Given the description of an element on the screen output the (x, y) to click on. 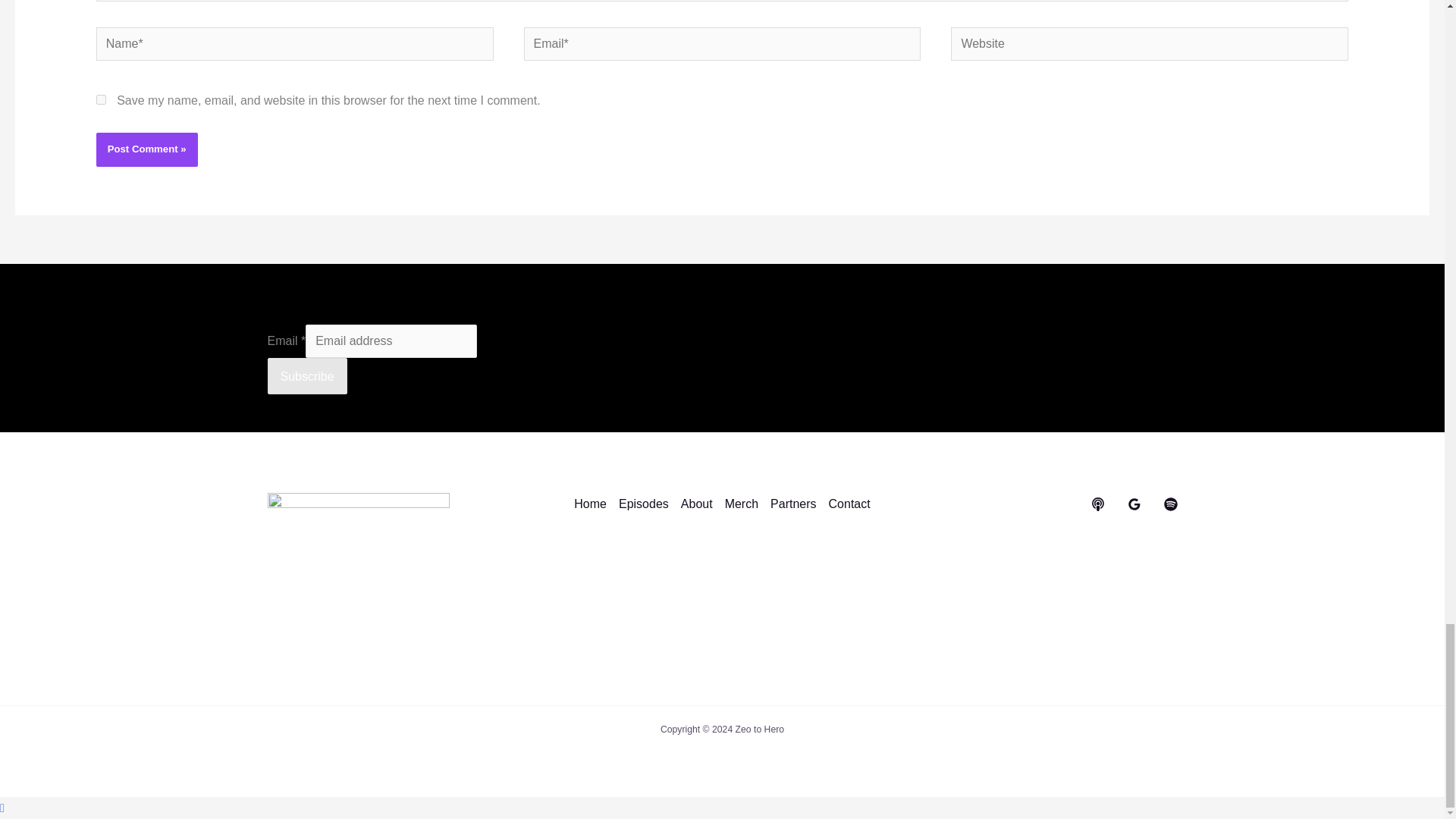
Home (592, 504)
yes (101, 99)
Subscribe (306, 375)
